Given the description of an element on the screen output the (x, y) to click on. 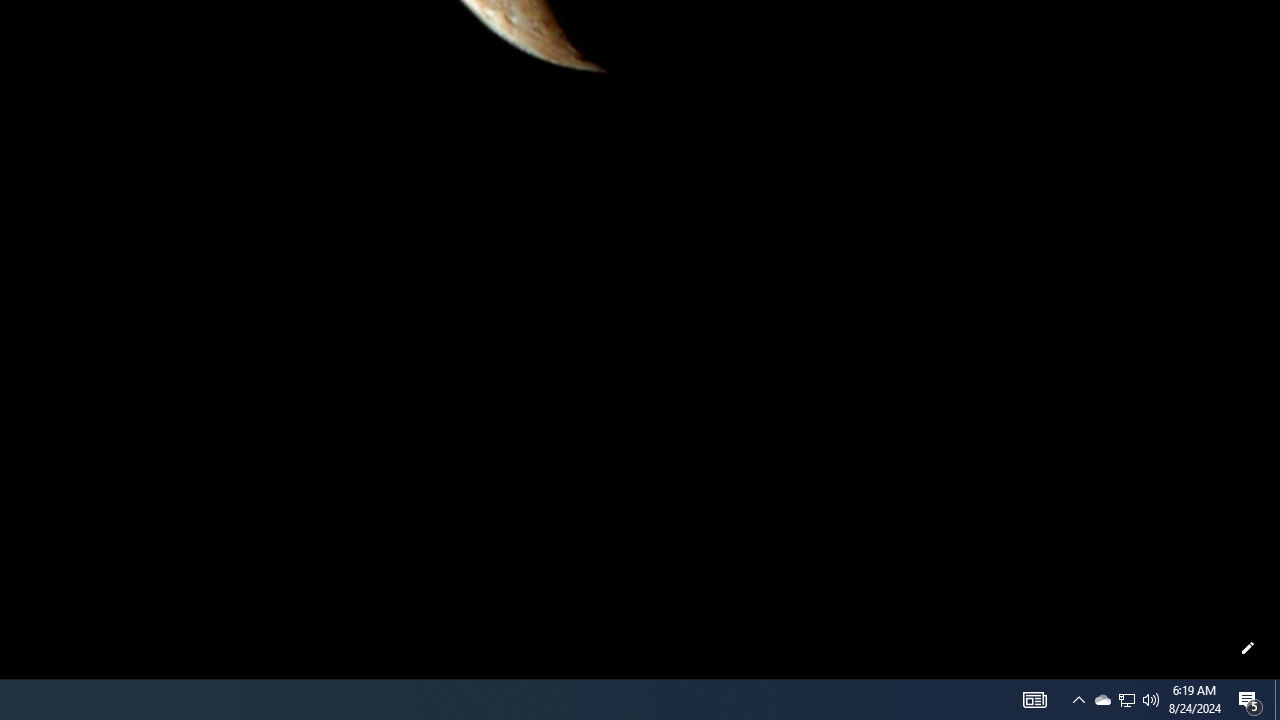
Customize this page (1247, 647)
